Given the description of an element on the screen output the (x, y) to click on. 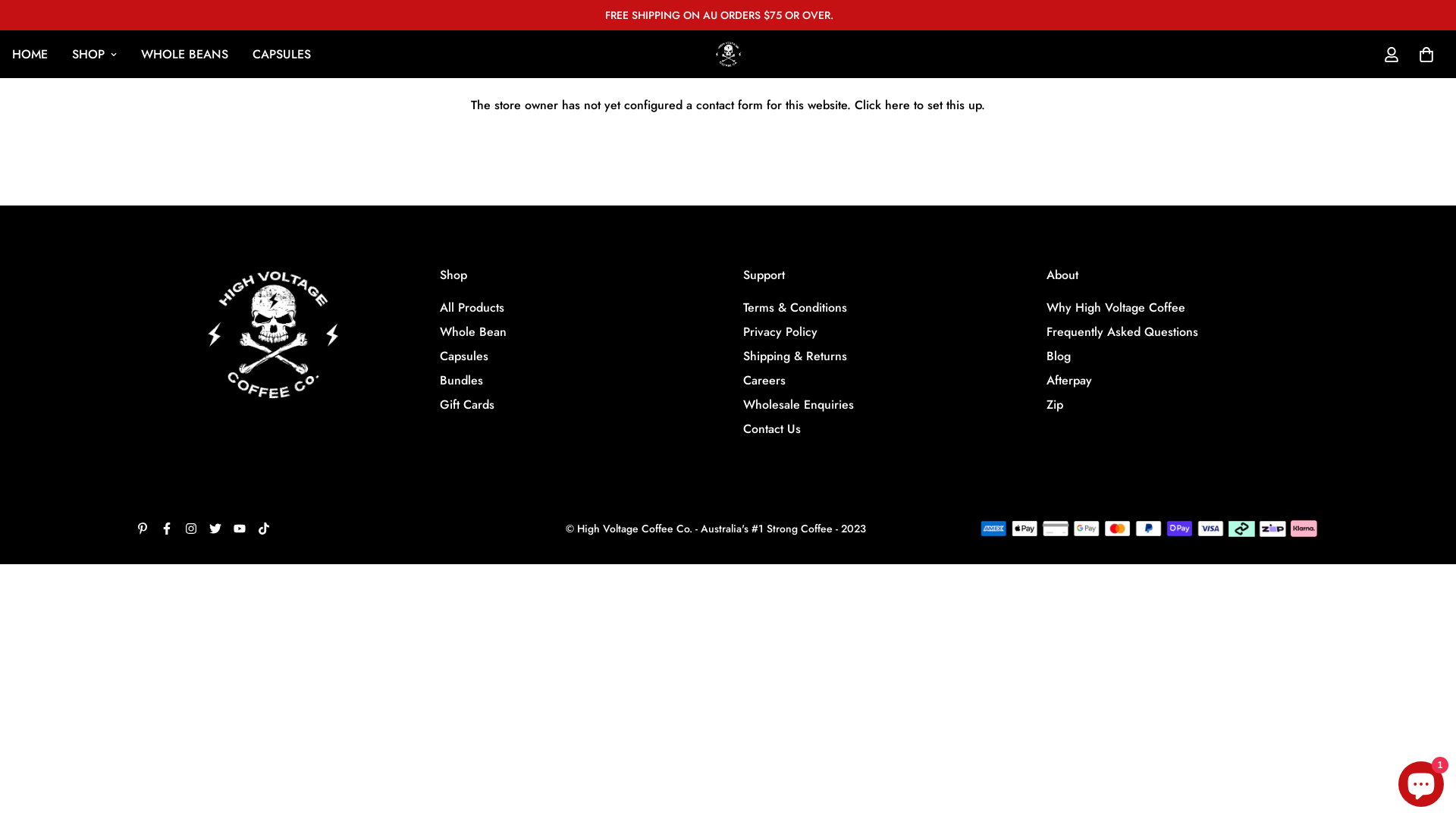
Zip Element type: text (1054, 404)
Privacy Policy Element type: text (780, 332)
Blog Element type: text (1058, 356)
Wholesale Enquiries Element type: text (798, 404)
Gift Cards Element type: text (466, 404)
All Products Element type: text (471, 307)
Terms & Conditions Element type: text (795, 307)
Careers Element type: text (764, 380)
Shipping & Returns Element type: text (795, 356)
CAPSULES Element type: text (281, 54)
HOME Element type: text (29, 54)
WHOLE BEANS Element type: text (184, 54)
Afterpay Element type: text (1069, 380)
High Voltage Coffee Co. Element type: hover (727, 54)
Frequently Asked Questions Element type: text (1122, 332)
Click here Element type: text (882, 104)
Capsules Element type: text (463, 356)
SHOP Element type: text (93, 54)
Bundles Element type: text (461, 380)
Contact Us Element type: text (771, 429)
Shopify online store chat Element type: hover (1420, 780)
Why High Voltage Coffee Element type: text (1115, 307)
Whole Bean Element type: text (472, 332)
